Given the description of an element on the screen output the (x, y) to click on. 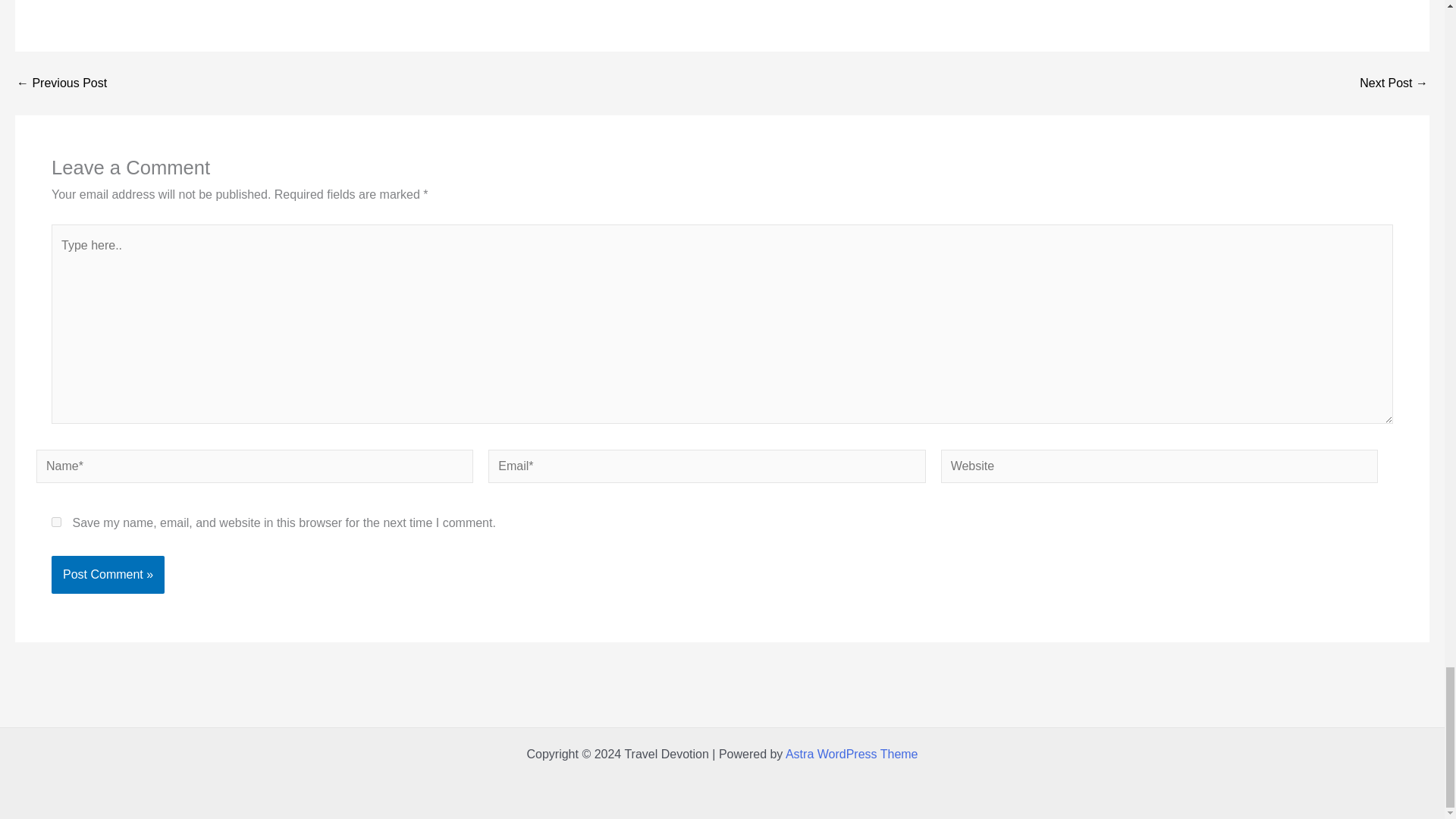
Best Places to Stay in Lake Tahoe (1393, 82)
yes (55, 521)
Astra WordPress Theme (852, 753)
Why choose Manly Holiday Homes (61, 82)
